Given the description of an element on the screen output the (x, y) to click on. 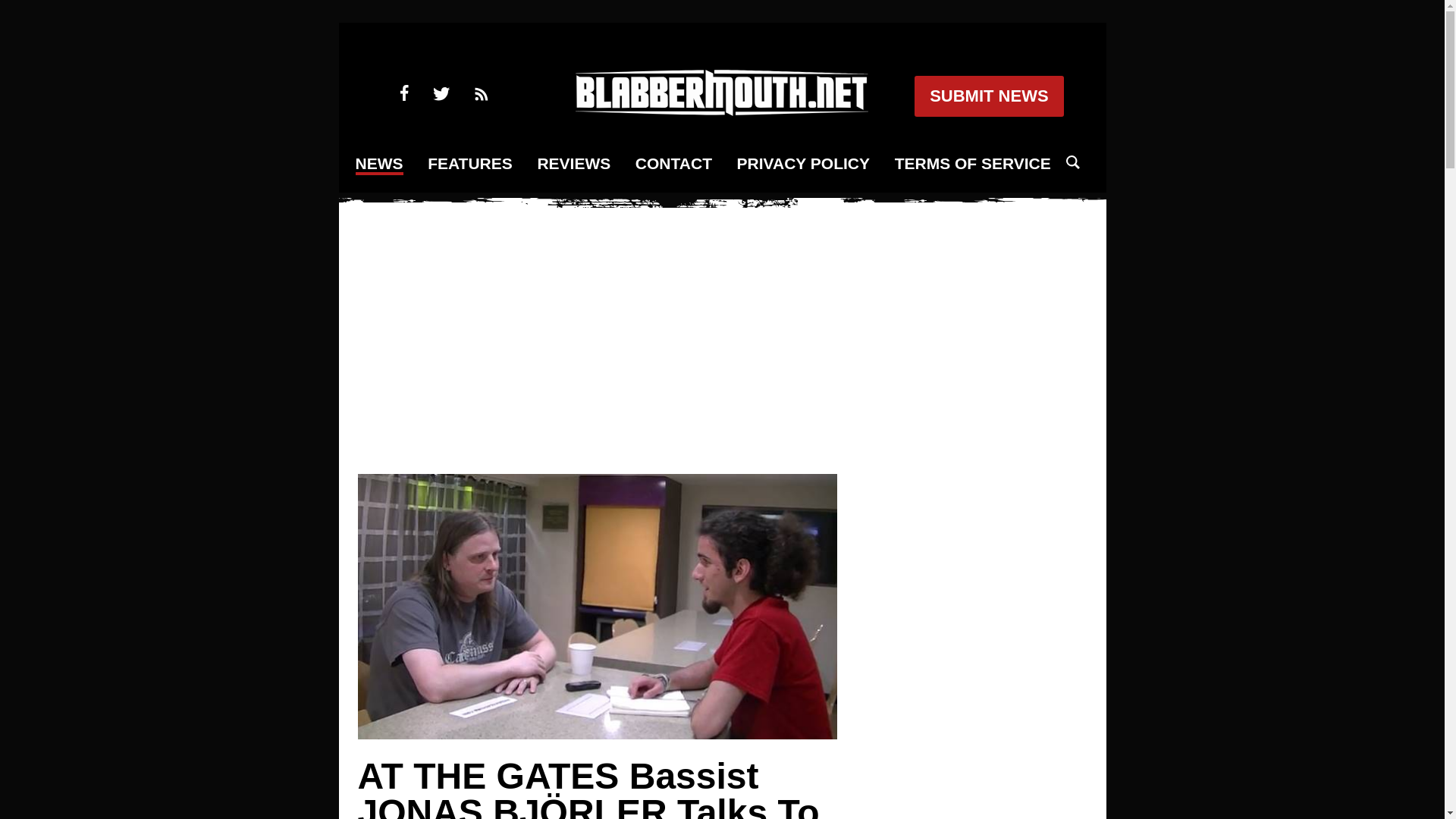
SUBMIT NEWS (988, 96)
FEATURES (470, 163)
REVIEWS (573, 163)
TERMS OF SERVICE (973, 163)
NEWS (379, 164)
CONTACT (672, 163)
search icon (1072, 161)
PRIVACY POLICY (802, 163)
blabbermouth (721, 110)
